Given the description of an element on the screen output the (x, y) to click on. 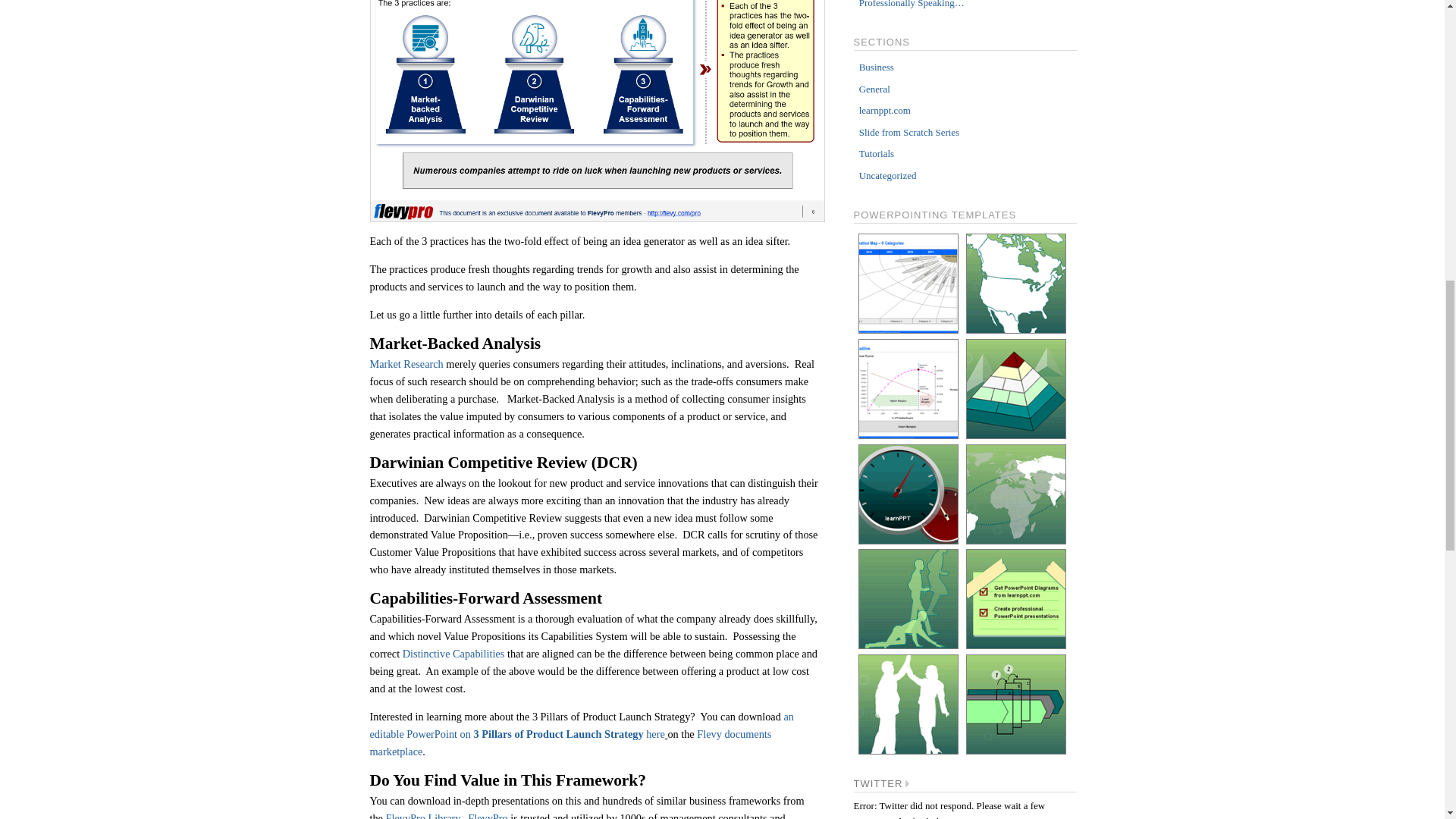
View all posts filed under General (874, 89)
View all posts filed under learnppt.com (885, 110)
View all posts filed under Tutorials (876, 153)
Distinctive Capabilities (454, 653)
Pricing Strategy Curves (908, 388)
View all posts filed under Slide from Scratch Series (909, 132)
View all posts filed under Uncategorized (888, 174)
Maps of North America (1015, 283)
Flevy documents marketplace (570, 742)
Transformation Maps (908, 283)
View all posts filed under Business (876, 66)
FlevyPro Library (422, 815)
FlevyPro (486, 815)
Pyramid Diagrams (1015, 388)
Market Research (406, 363)
